Given the description of an element on the screen output the (x, y) to click on. 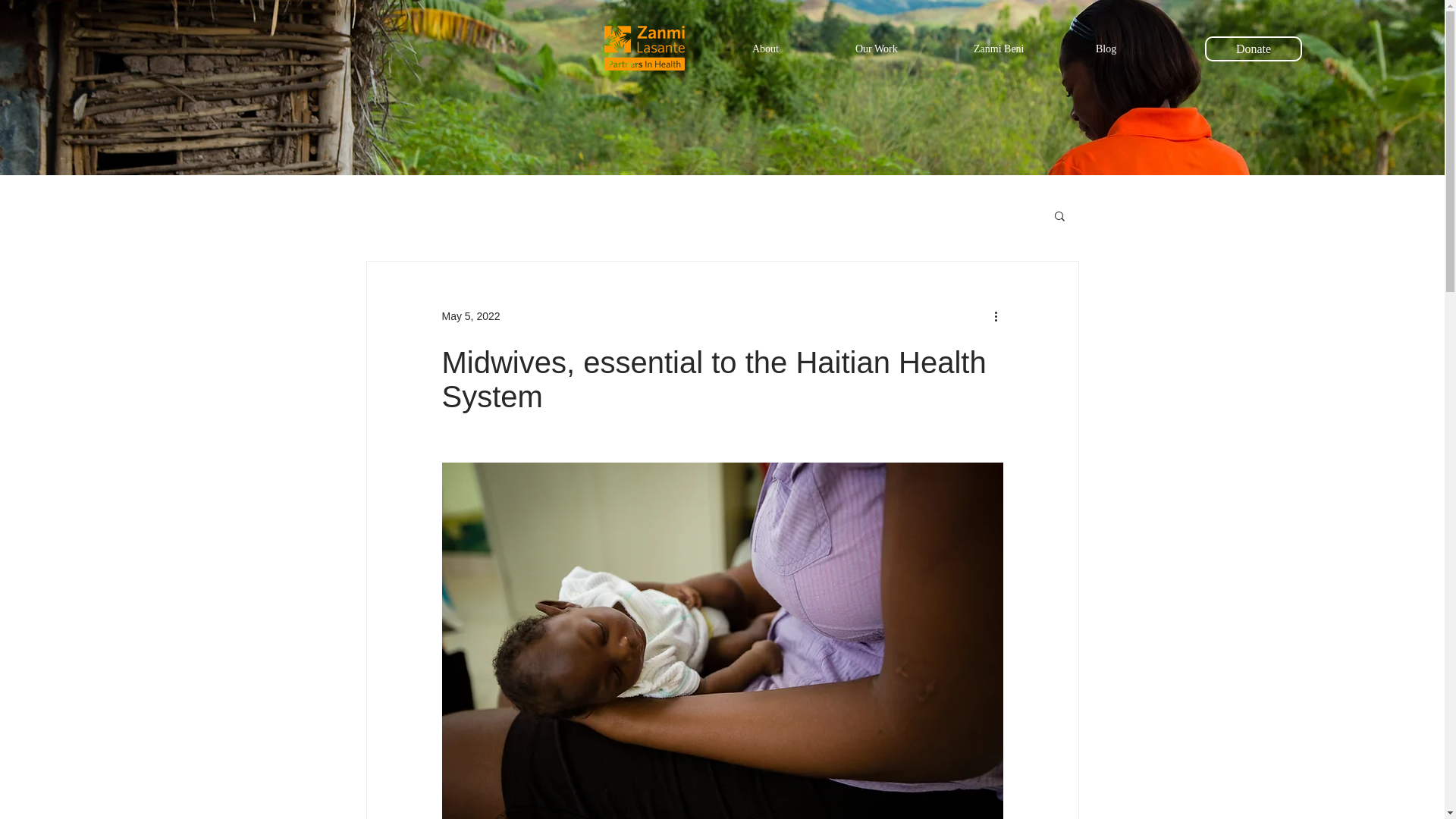
Donate (1253, 48)
Blog (1130, 48)
May 5, 2022 (470, 315)
Zanmi Beni (1023, 48)
About (792, 48)
